Given the description of an element on the screen output the (x, y) to click on. 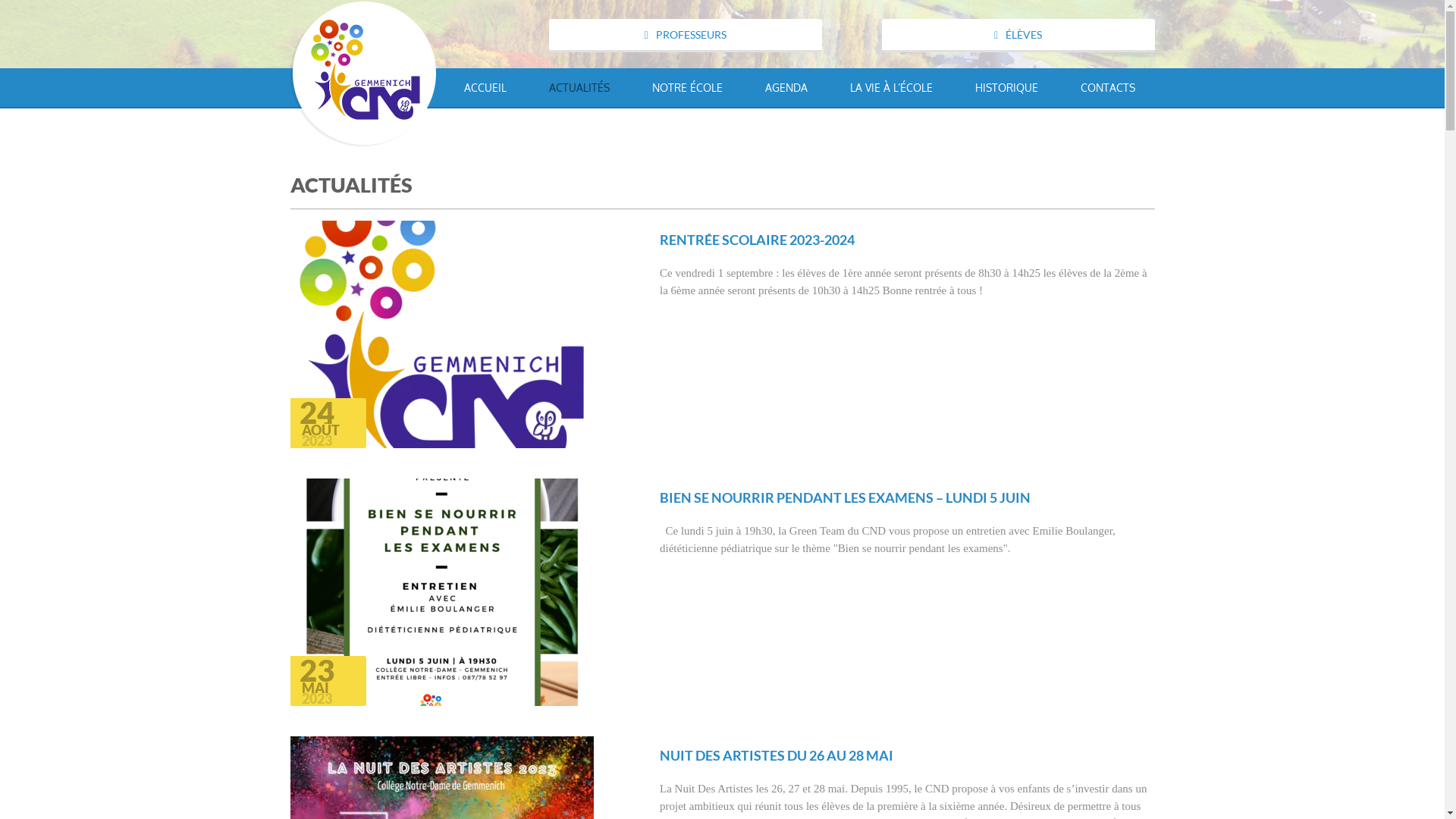
PROFESSEURS Element type: text (685, 35)
CONTACTS Element type: text (1096, 87)
AGENDA Element type: text (785, 87)
NUIT DES ARTISTES DU 26 AU 28 MAI Element type: text (776, 754)
ACCUEIL Element type: text (484, 87)
HISTORIQUE Element type: text (1006, 87)
23
MAI
2023 Element type: text (463, 592)
Accueil Element type: hover (362, 70)
